Given the description of an element on the screen output the (x, y) to click on. 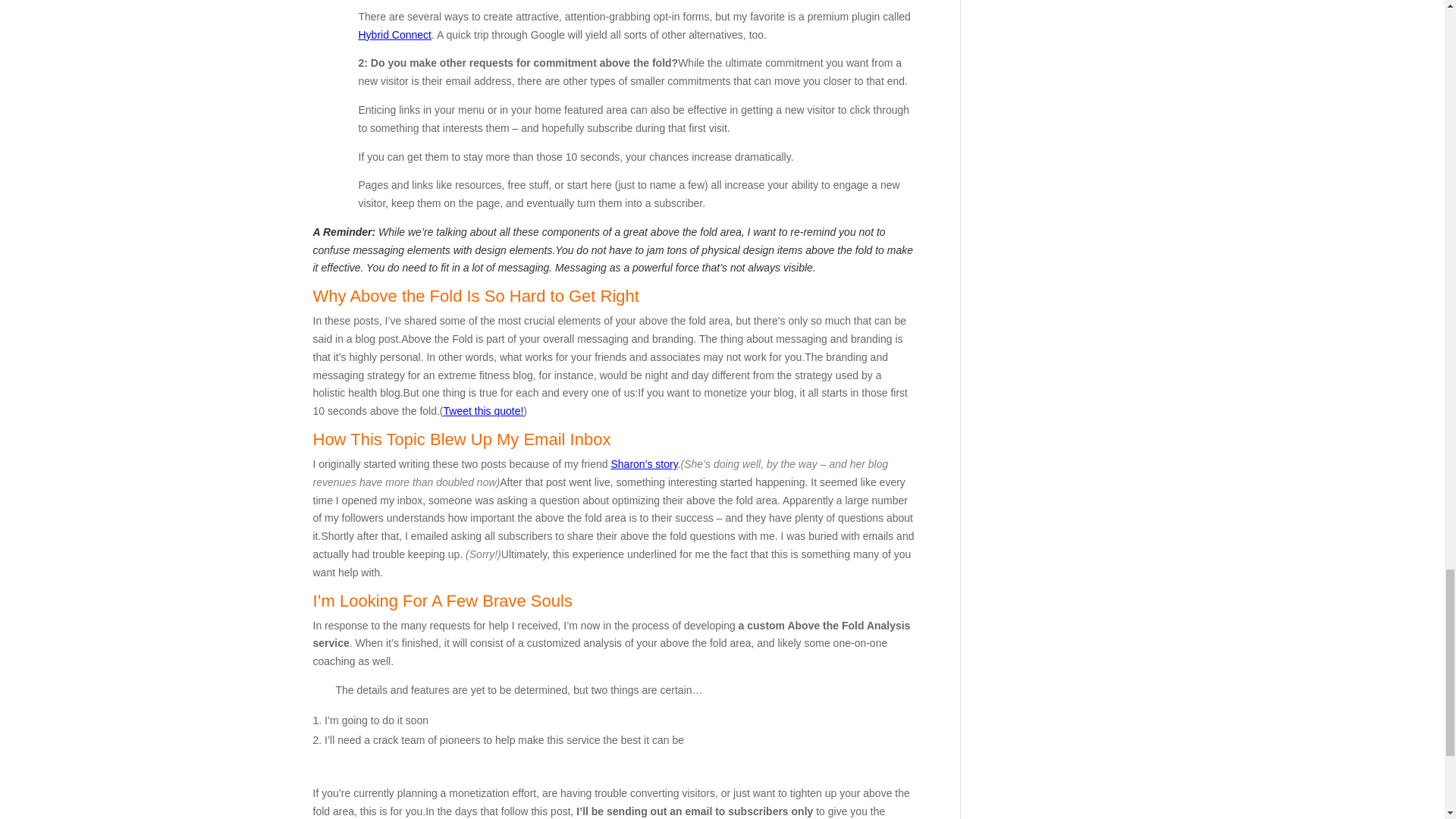
One Simple Thing You Can Do to Monetize Your Blog Today (643, 463)
HybridConnect (394, 34)
Hybrid Connect (394, 34)
Tweet this quote! (484, 410)
Tweet this quote! (484, 410)
